Given the description of an element on the screen output the (x, y) to click on. 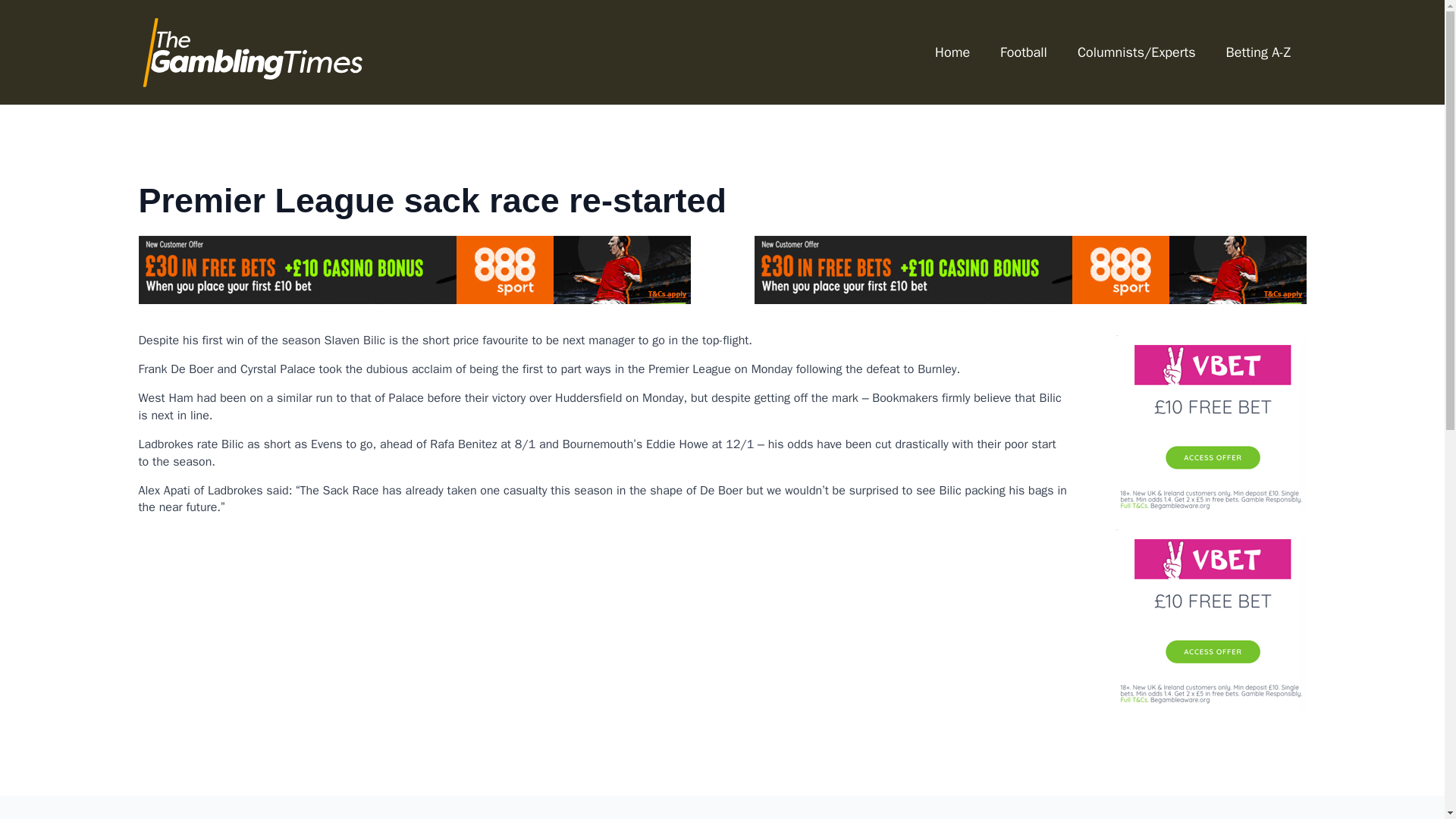
Home (952, 52)
Betting A-Z (1258, 52)
Football (1023, 52)
